Given the description of an element on the screen output the (x, y) to click on. 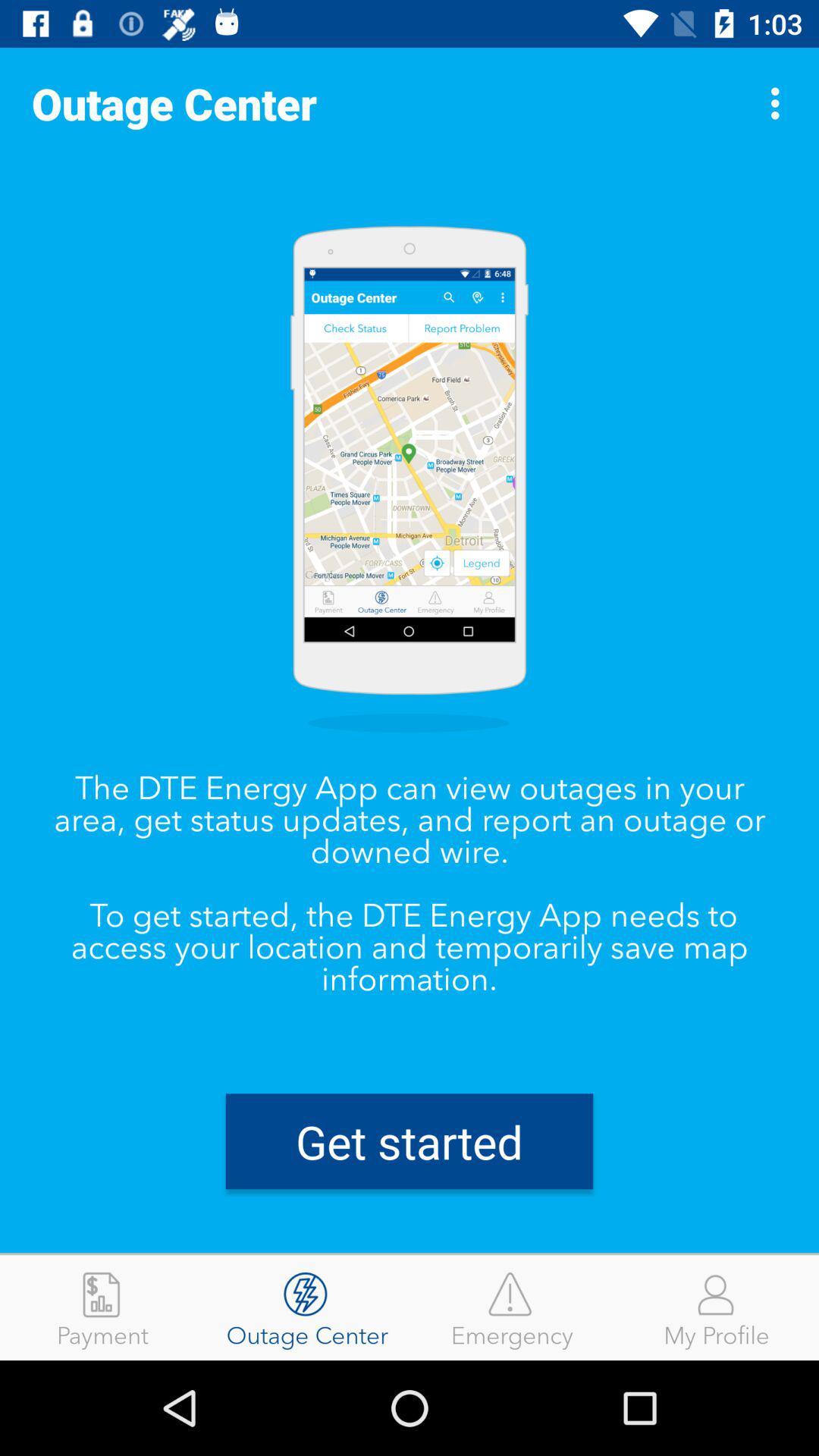
scroll to payment (102, 1307)
